Given the description of an element on the screen output the (x, y) to click on. 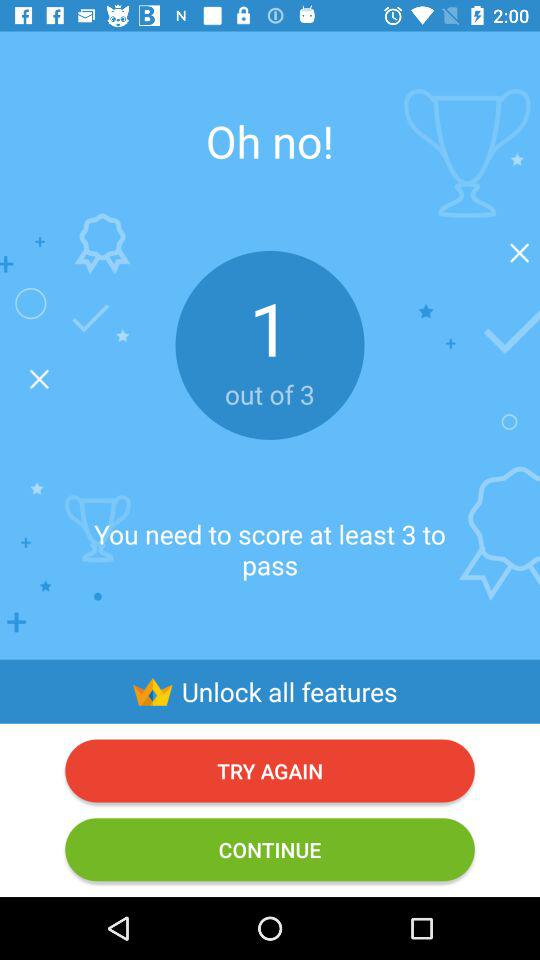
flip until the try again icon (269, 770)
